Given the description of an element on the screen output the (x, y) to click on. 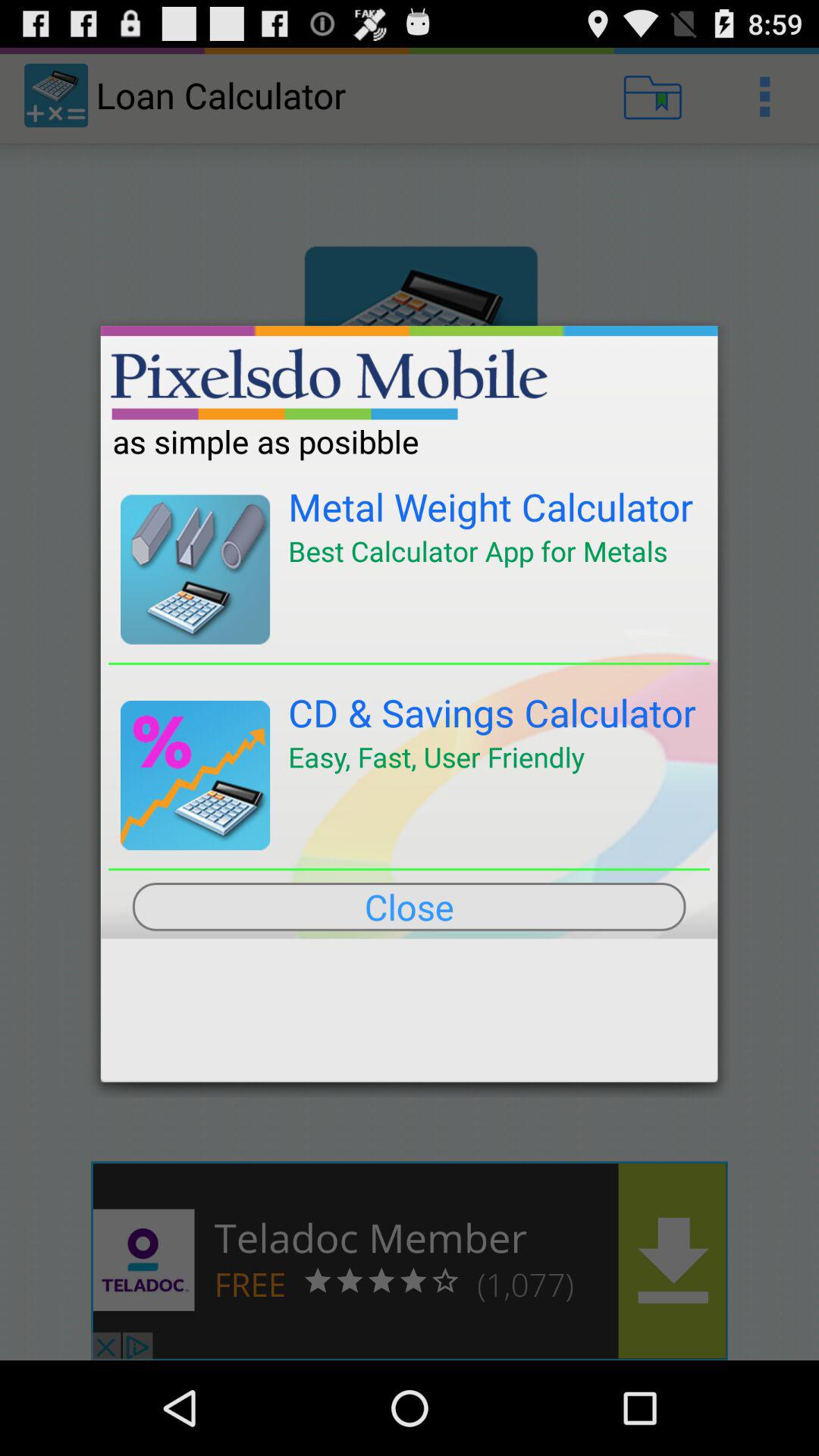
turn off the best calculator app app (477, 550)
